Given the description of an element on the screen output the (x, y) to click on. 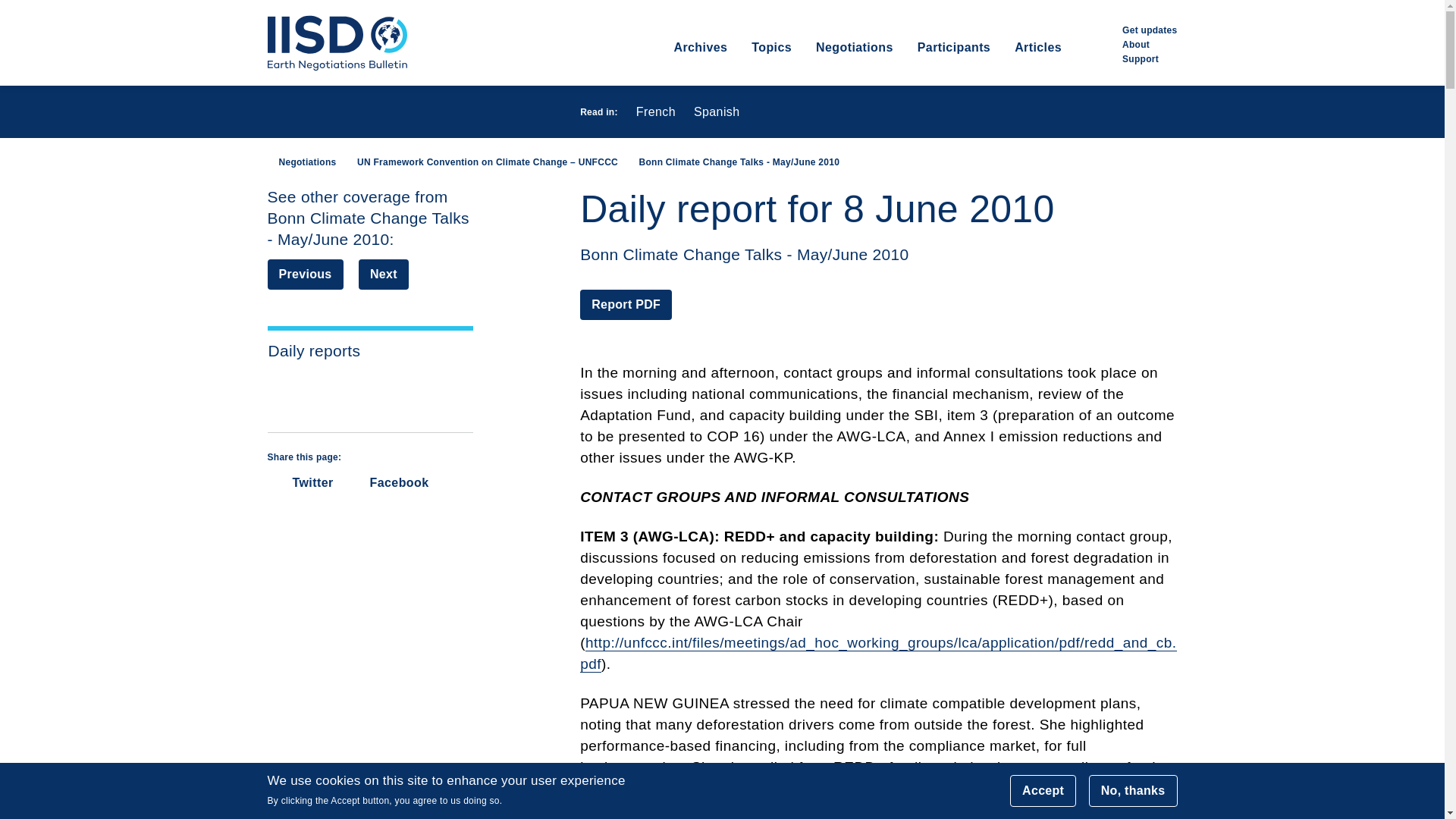
Participants (953, 62)
Facebook (389, 482)
Get updates (1149, 29)
View this page in French (655, 112)
Negotiations (301, 162)
Support (1140, 58)
Daily reports (369, 350)
Accept (1042, 790)
Share via Twitter (299, 482)
Previous (304, 274)
